Given the description of an element on the screen output the (x, y) to click on. 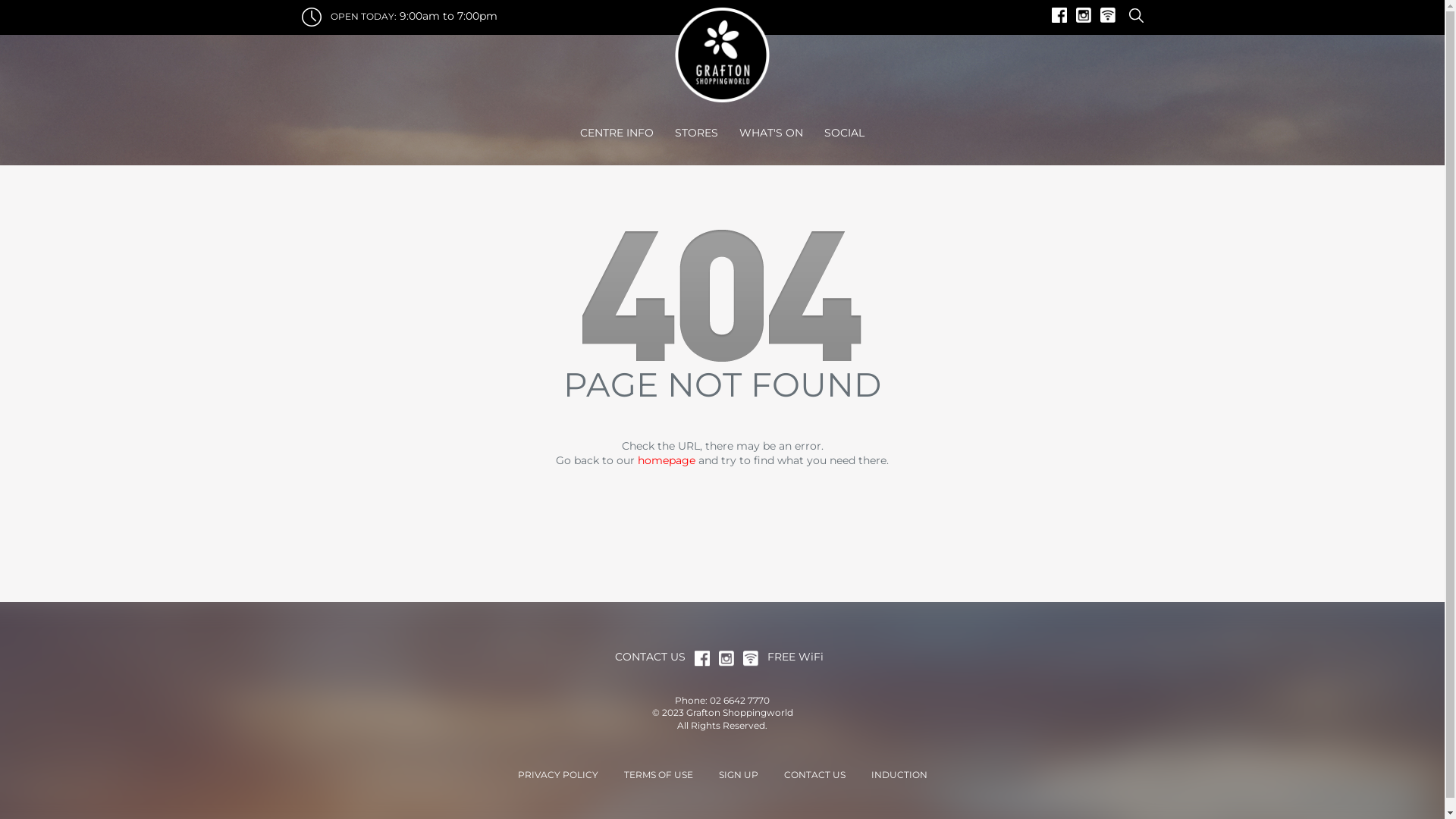
wifi Element type: hover (755, 656)
SOCIAL Element type: text (844, 132)
INDUCTION Element type: text (898, 774)
SIGN UP Element type: text (738, 774)
Search Element type: hover (1132, 14)
Insta Element type: hover (730, 656)
homepage Element type: text (666, 460)
WHAT'S ON Element type: text (770, 132)
facebook Element type: hover (1063, 14)
facebook Element type: hover (706, 656)
wifi Element type: hover (1111, 14)
STORES Element type: text (696, 132)
CONTACT US Element type: text (814, 774)
PRIVACY POLICY Element type: text (557, 774)
CENTRE INFO Element type: text (616, 132)
TERMS OF USE Element type: text (657, 774)
Insta Element type: hover (1087, 14)
